Given the description of an element on the screen output the (x, y) to click on. 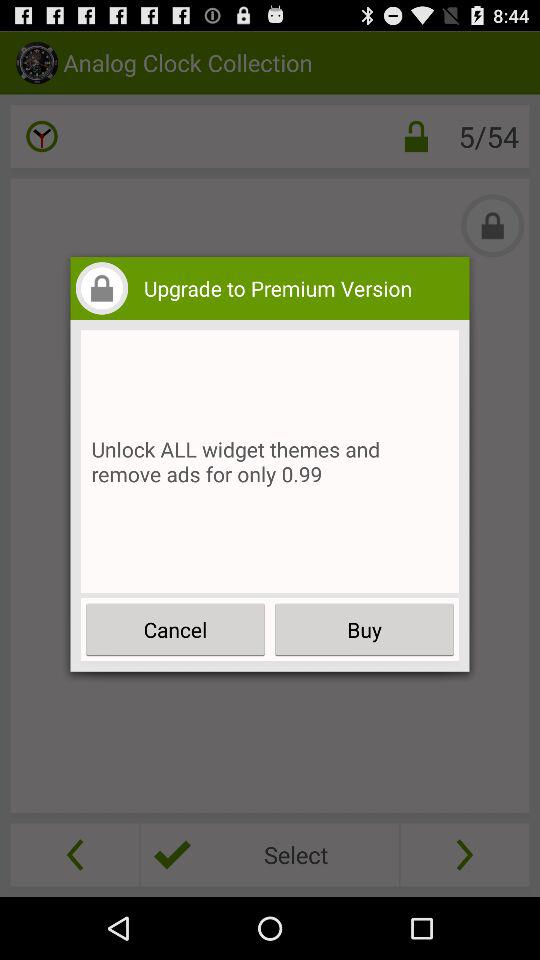
click button next to cancel item (364, 629)
